Given the description of an element on the screen output the (x, y) to click on. 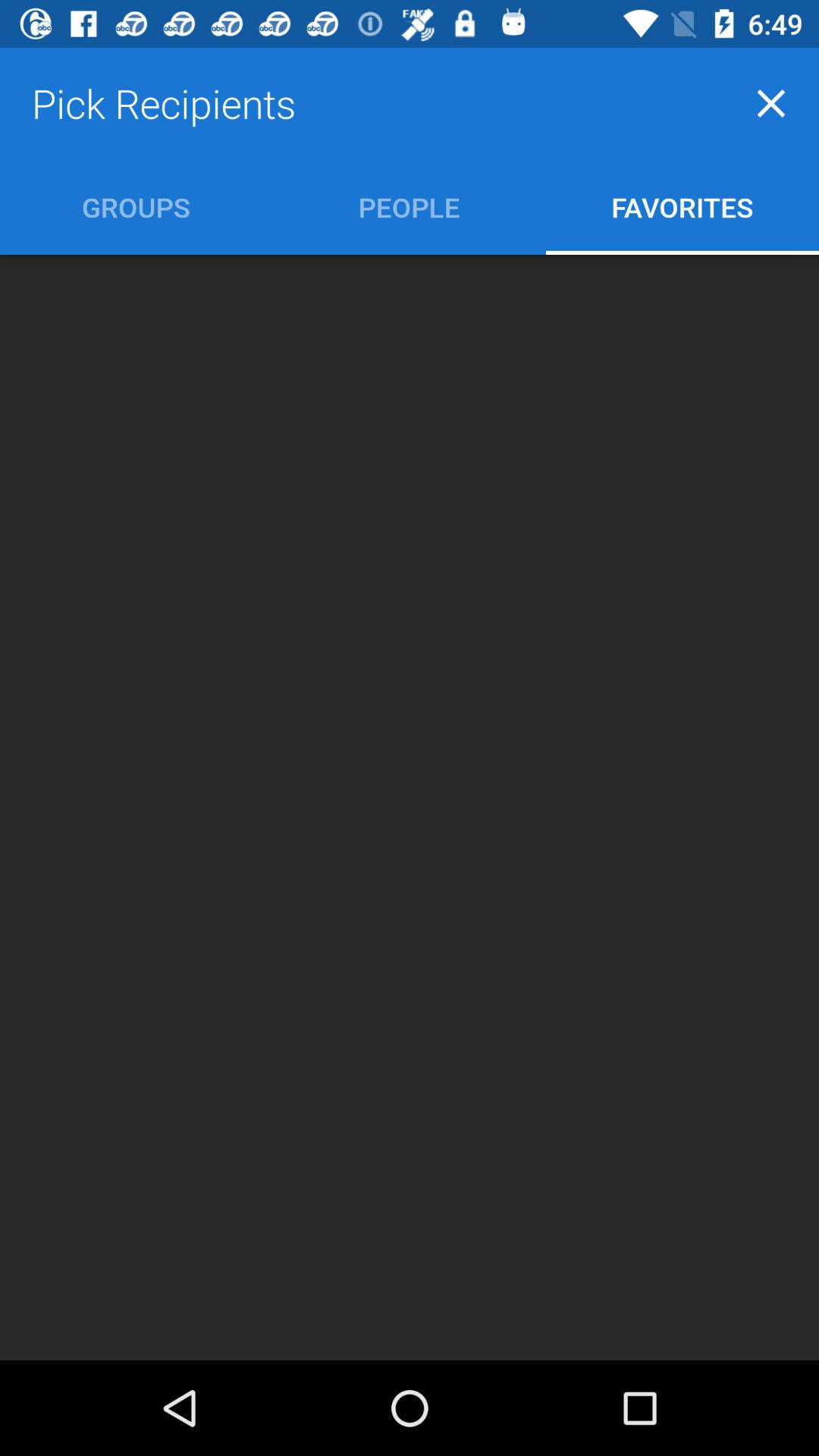
tap the groups item (136, 206)
